Given the description of an element on the screen output the (x, y) to click on. 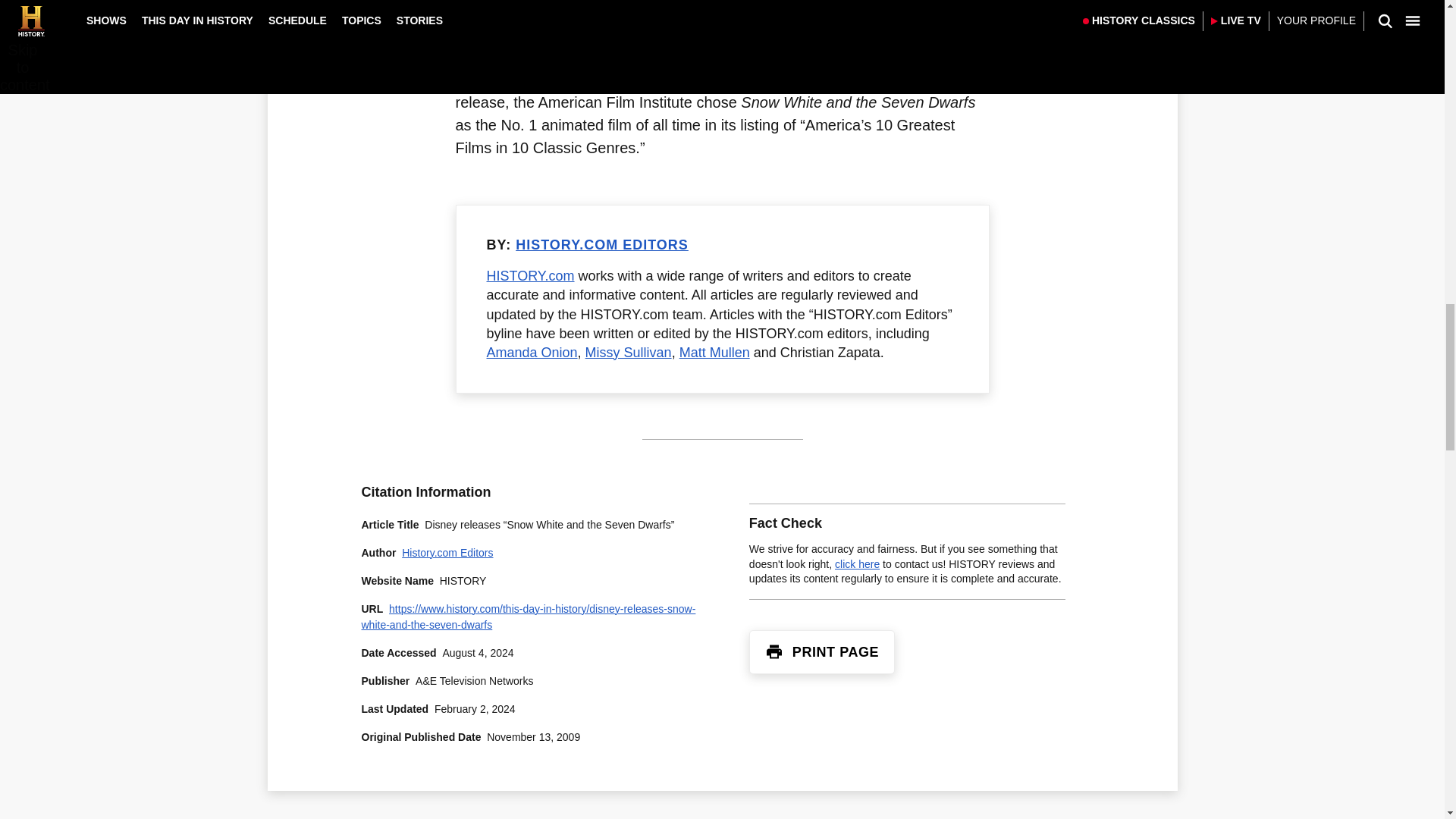
Print (774, 651)
